Given the description of an element on the screen output the (x, y) to click on. 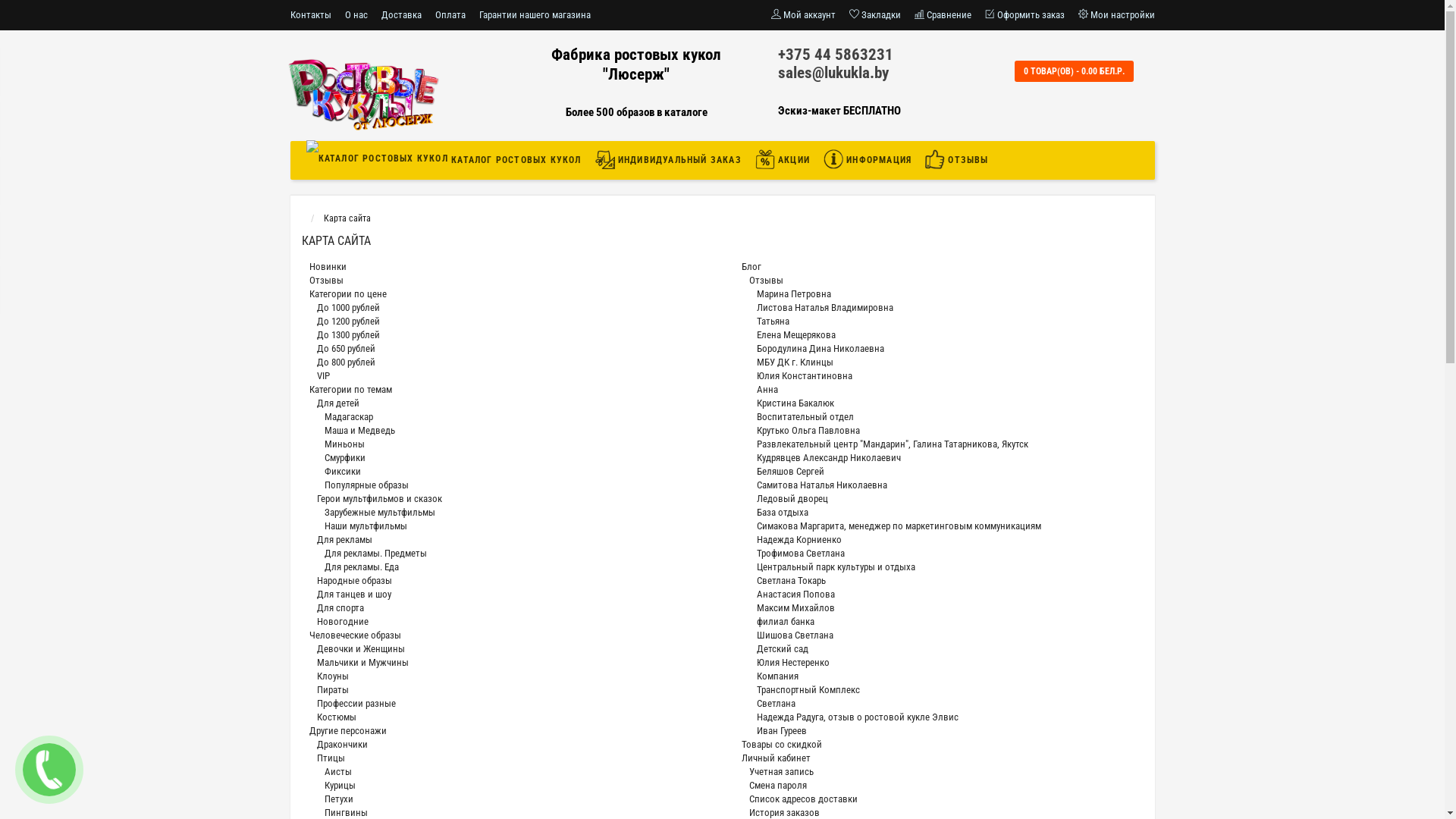
VIP Element type: text (322, 375)
+375 44 5863231 Element type: text (835, 53)
sales@lukukla.by Element type: text (833, 71)
